Given the description of an element on the screen output the (x, y) to click on. 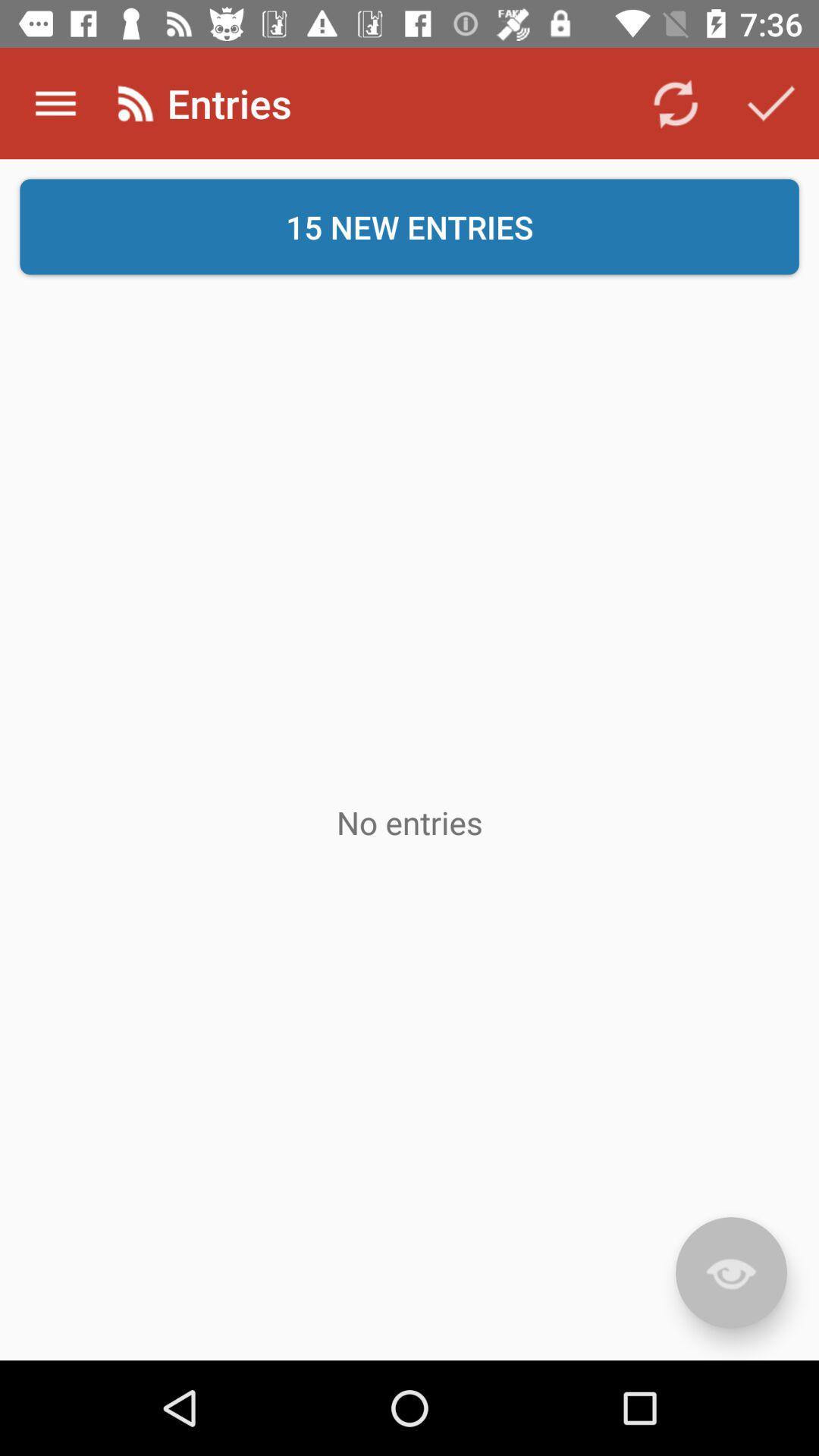
press the no entries item (409, 822)
